Given the description of an element on the screen output the (x, y) to click on. 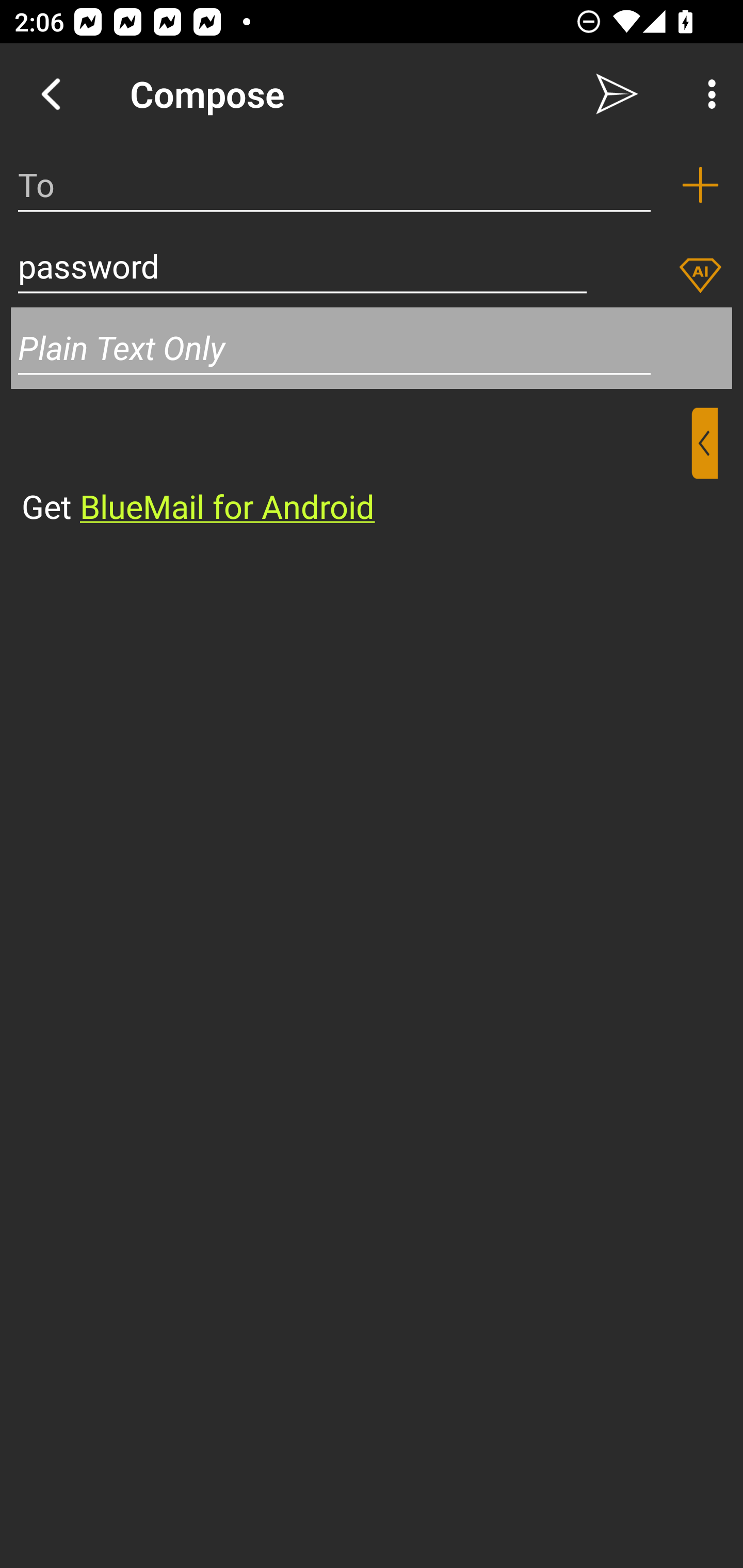
Navigate up (50, 93)
Send (616, 93)
More Options (706, 93)
To (334, 184)
Add recipient (To) (699, 184)
password (302, 266)
Plain Text Only (371, 347)


⁣Get BlueMail for Android ​ (355, 468)
